Given the description of an element on the screen output the (x, y) to click on. 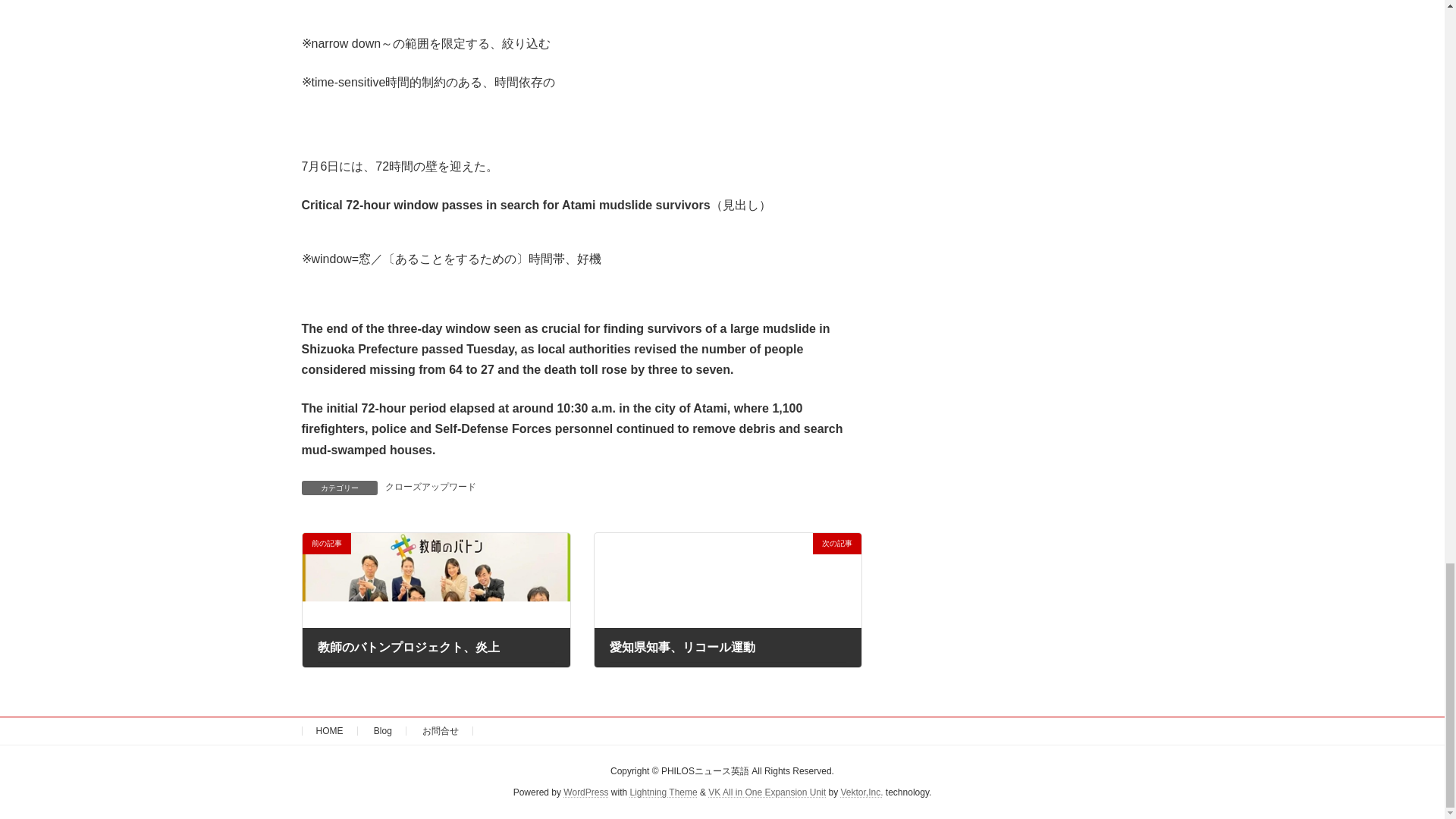
Vektor,Inc. (861, 656)
VK All in One Expansion Unit (766, 656)
WordPress (585, 656)
Blog (382, 594)
Lightning Theme (662, 656)
HOME (328, 594)
